Given the description of an element on the screen output the (x, y) to click on. 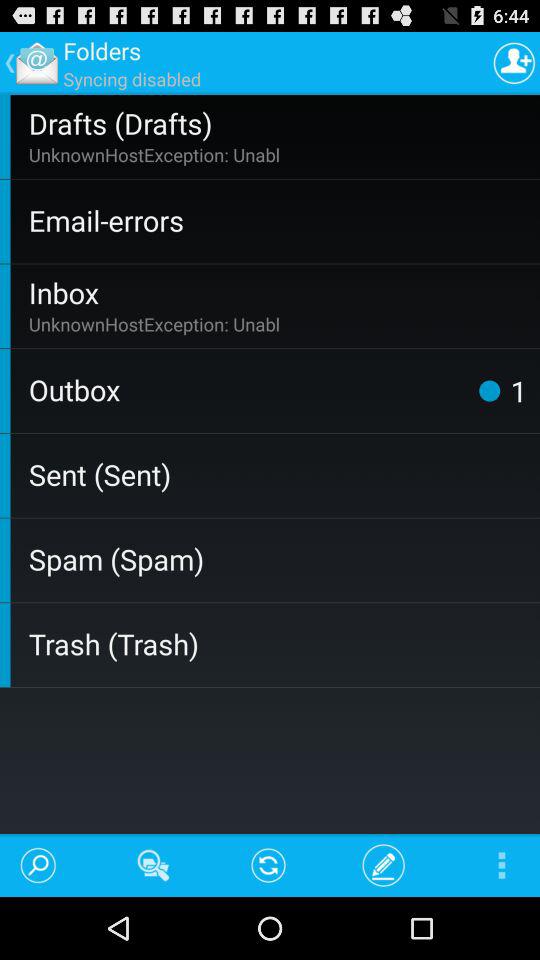
scroll until the spam (spam) item (280, 558)
